Given the description of an element on the screen output the (x, y) to click on. 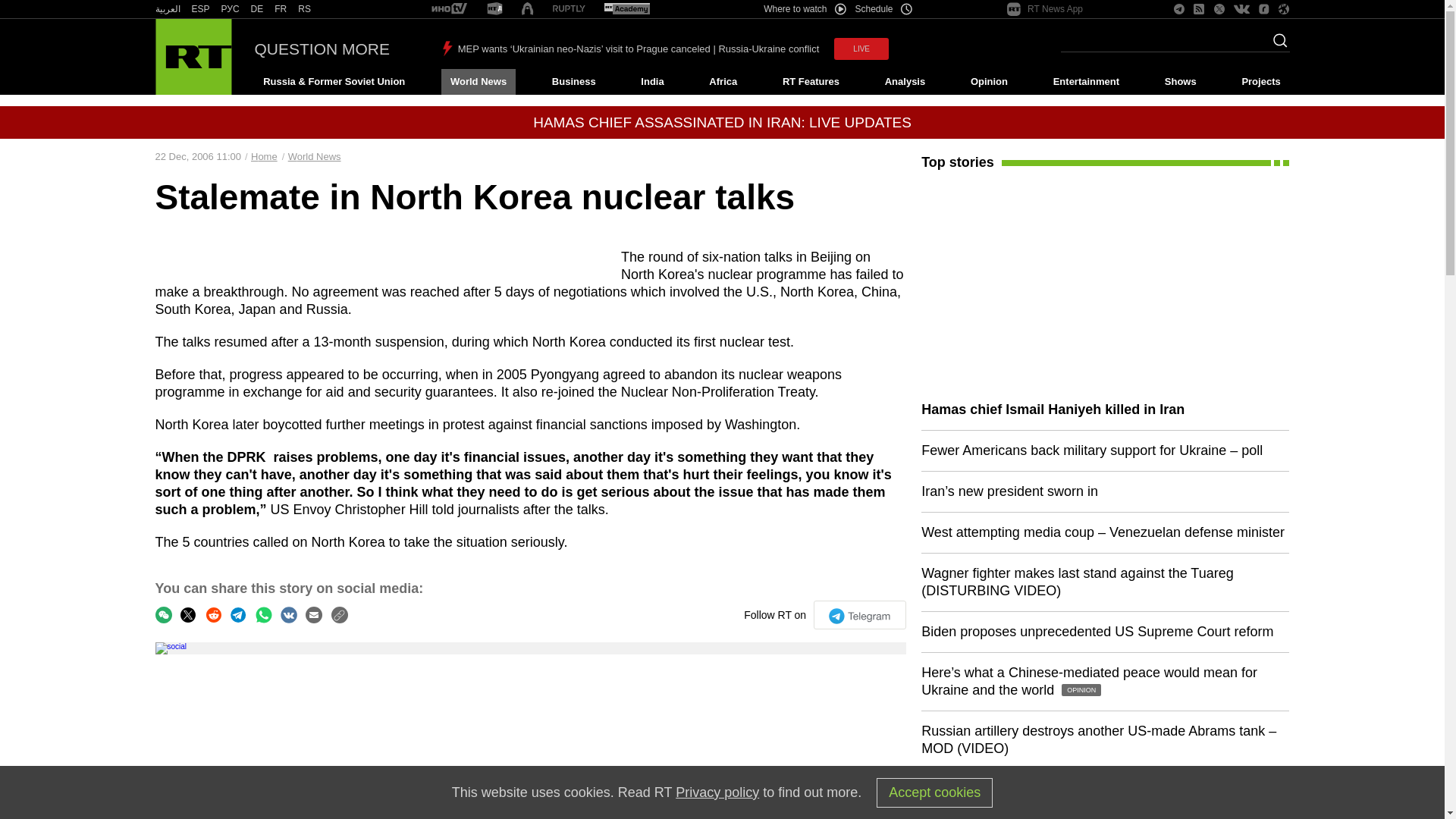
RT  (494, 9)
RT  (230, 9)
Where to watch (803, 9)
Opinion (988, 81)
RT  (166, 9)
World News (478, 81)
Projects (1261, 81)
Business (573, 81)
RS (304, 9)
DE (256, 9)
RT  (280, 9)
RT  (448, 9)
Shows (1180, 81)
RT News App (1045, 9)
Schedule (884, 9)
